Given the description of an element on the screen output the (x, y) to click on. 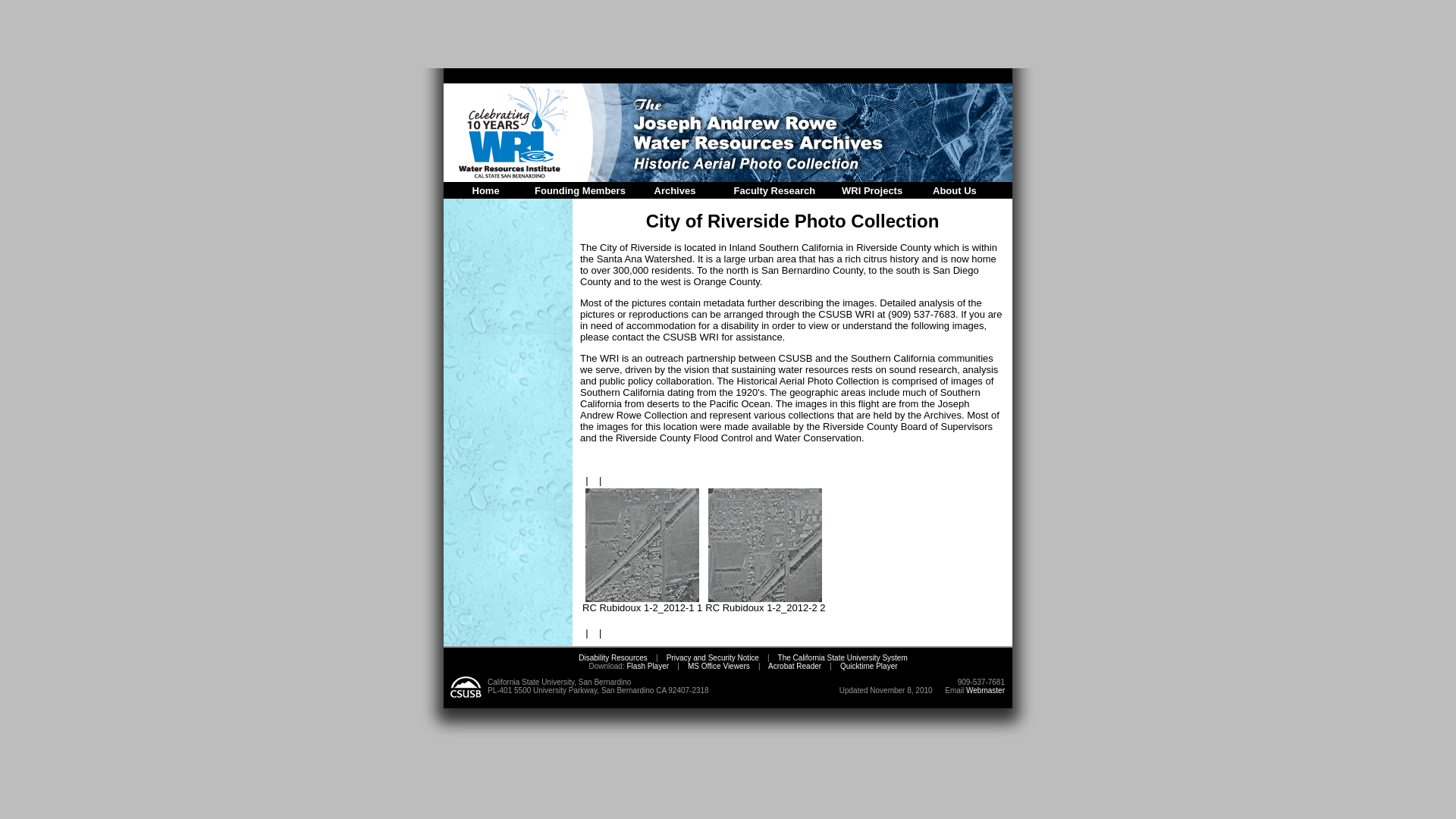
MS Office Viewers (718, 665)
Archives (674, 190)
Faculty Research (774, 190)
Home (485, 190)
Acrobat Reader (794, 665)
Disability Resources (612, 657)
The California State University System (842, 657)
Privacy and Security Notice (712, 657)
Founding Members (580, 190)
Webmaster (985, 690)
About Us (954, 190)
Quicktime Player (869, 665)
WRI Projects (871, 190)
Flash Player (646, 665)
